Given the description of an element on the screen output the (x, y) to click on. 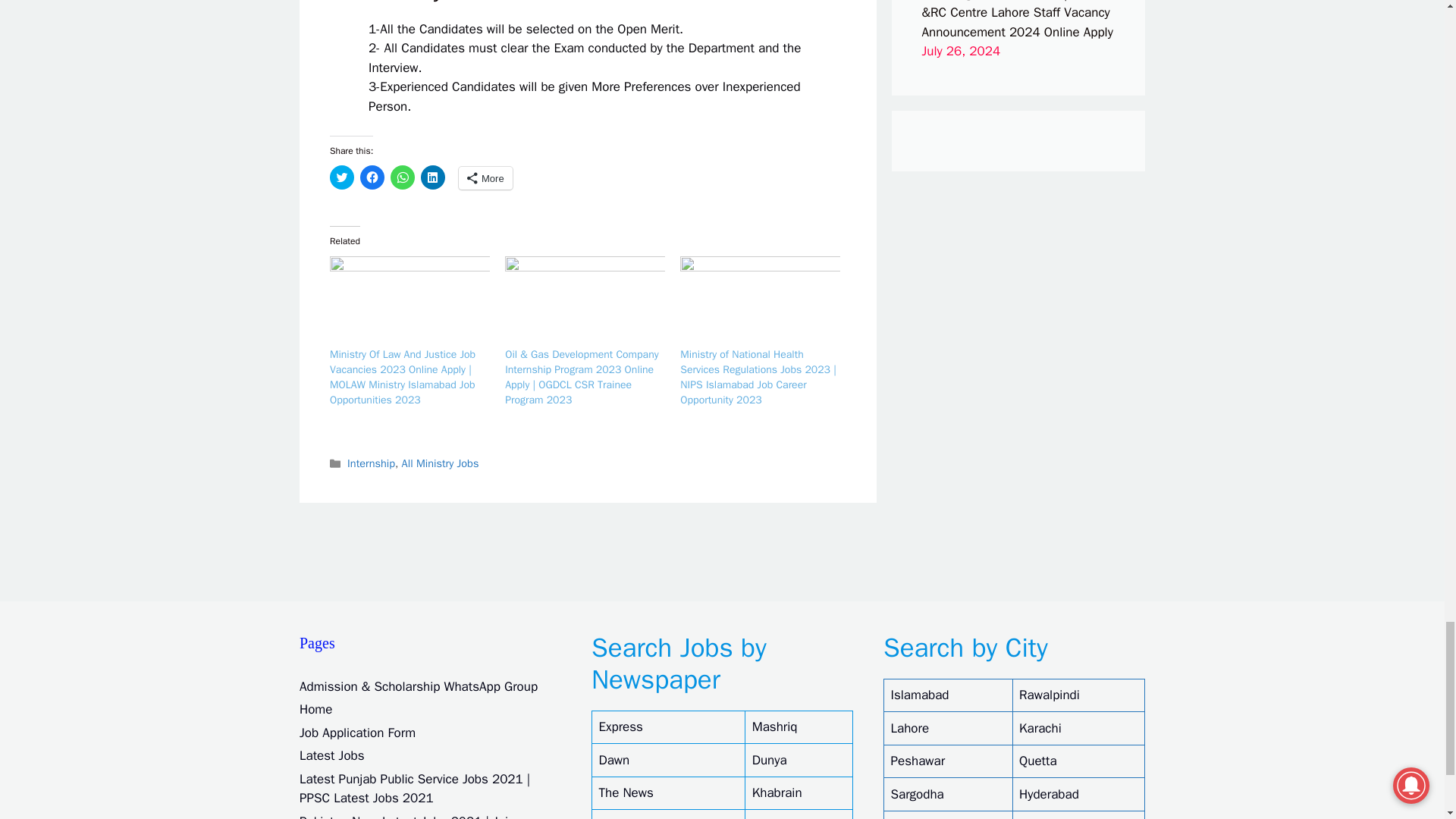
Click to share on LinkedIn (432, 177)
Click to share on WhatsApp (402, 177)
Click to share on Facebook (371, 177)
Click to share on Twitter (341, 177)
